Given the description of an element on the screen output the (x, y) to click on. 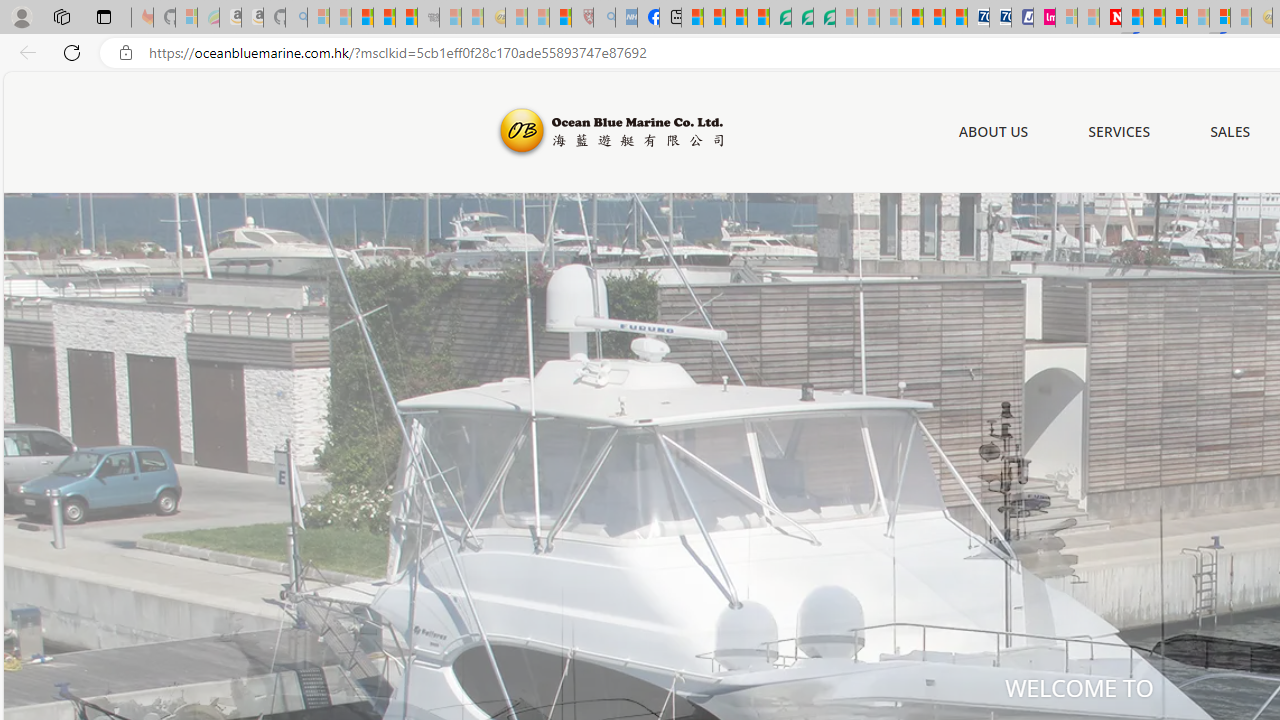
Jobs - lastminute.com Investor Portal (1044, 17)
Microsoft Word - consumer-privacy address update 2.2021 (824, 17)
Local - MSN (560, 17)
The Weather Channel - MSN (362, 17)
